Given the description of an element on the screen output the (x, y) to click on. 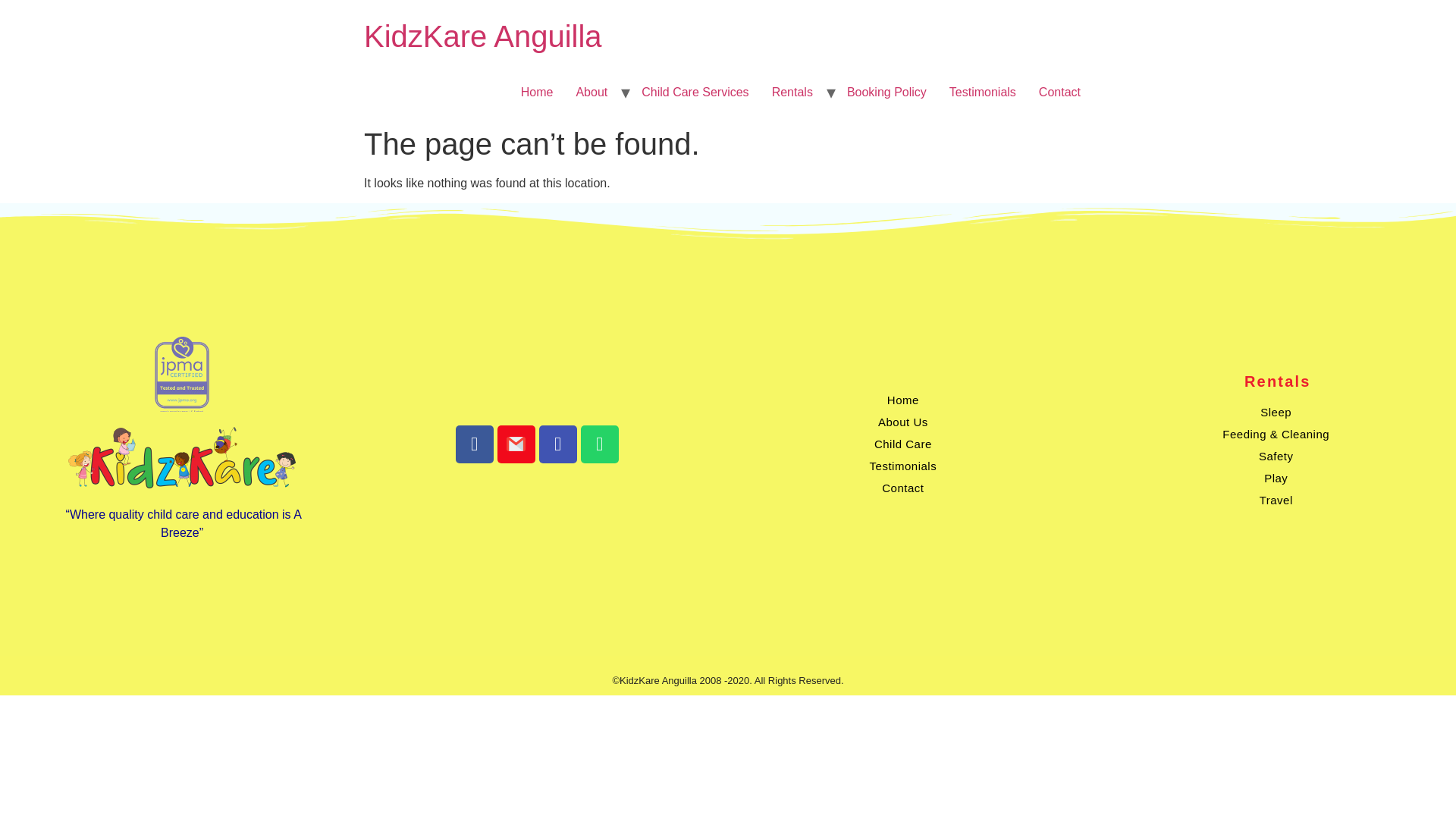
KidzKare Anguilla (483, 36)
Play (1275, 477)
Testimonials (982, 91)
About (591, 91)
Child Care Services (695, 91)
Home (903, 400)
Contact (903, 487)
Testimonials (903, 465)
Child Care (903, 444)
Contact (1059, 91)
Home (536, 91)
About Us (903, 422)
Rentals (792, 91)
Home (483, 36)
Safety (1275, 455)
